Given the description of an element on the screen output the (x, y) to click on. 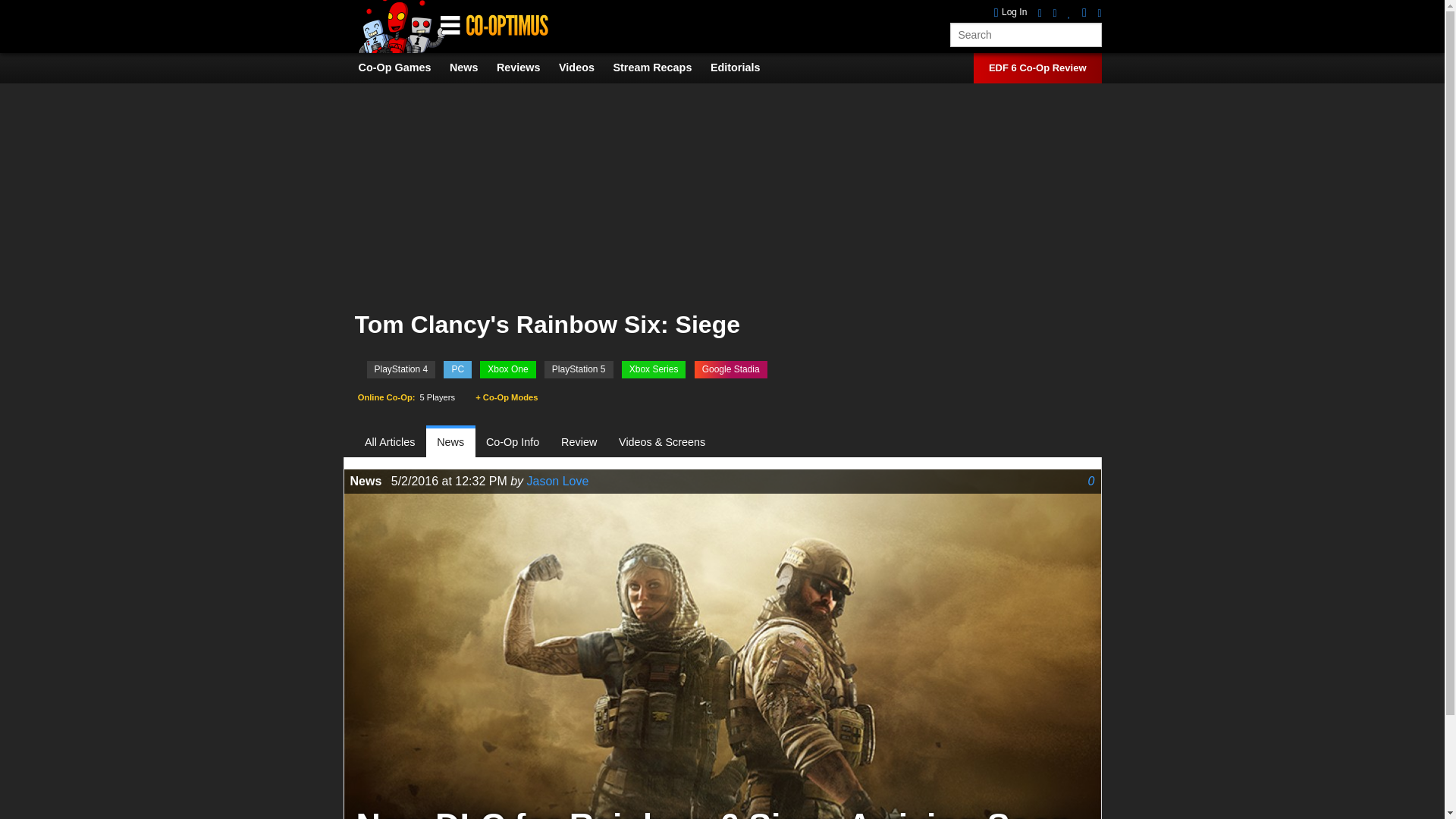
All Articles (395, 442)
News (471, 67)
Xbox One (507, 369)
Editorials (743, 67)
login (1010, 11)
Google Stadia (730, 369)
PC (457, 369)
EDF 6 Co-Op Review (1037, 67)
PlayStation 5 (578, 369)
Videos (584, 67)
Stream Recaps (659, 67)
Co-Op Games (401, 67)
PlayStation 4 (400, 369)
Weekly Video Streams and VODs from Co-Optimus (659, 67)
 Log In (1010, 11)
